Given the description of an element on the screen output the (x, y) to click on. 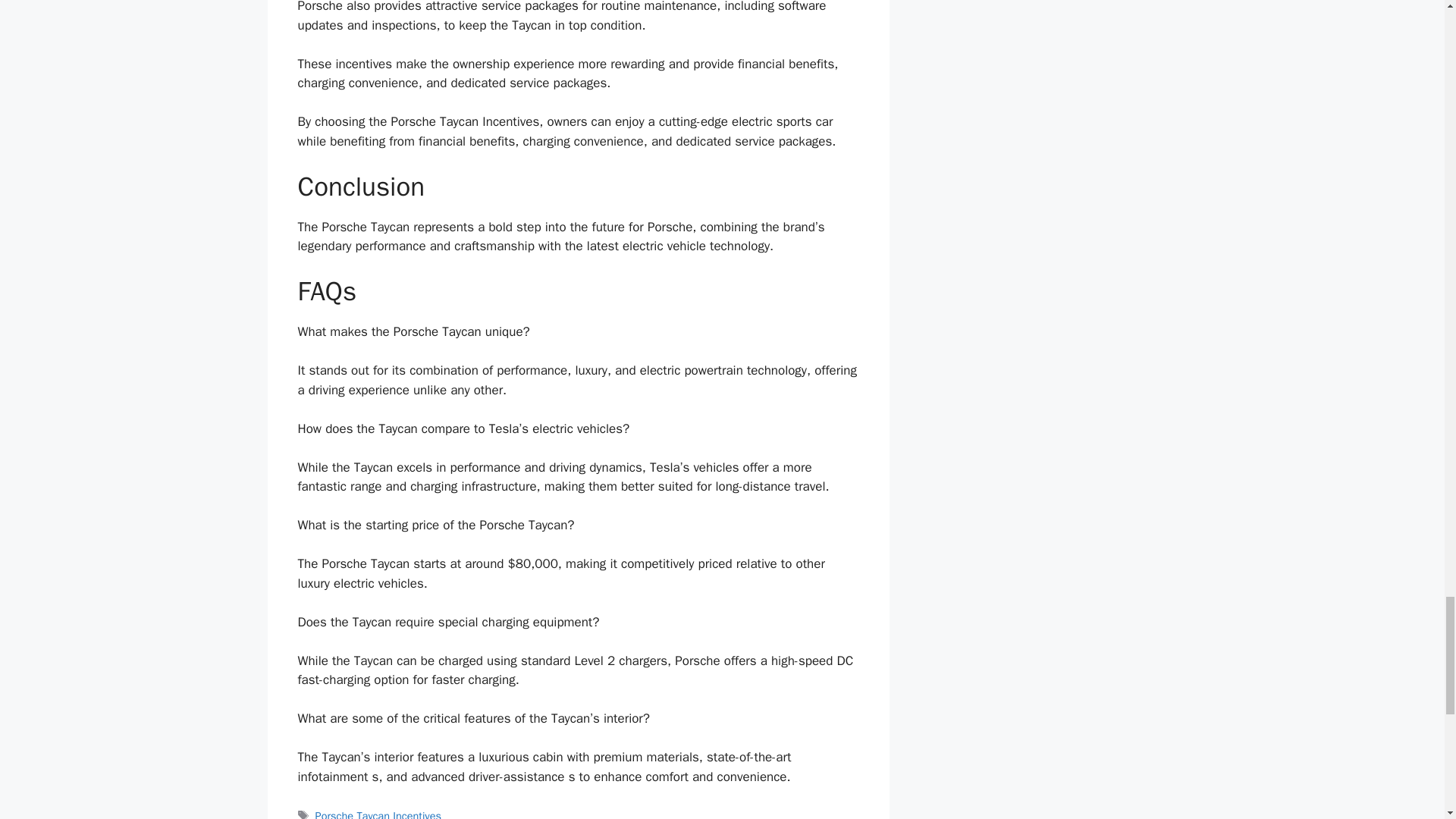
Porsche Taycan Incentives (378, 814)
